Given the description of an element on the screen output the (x, y) to click on. 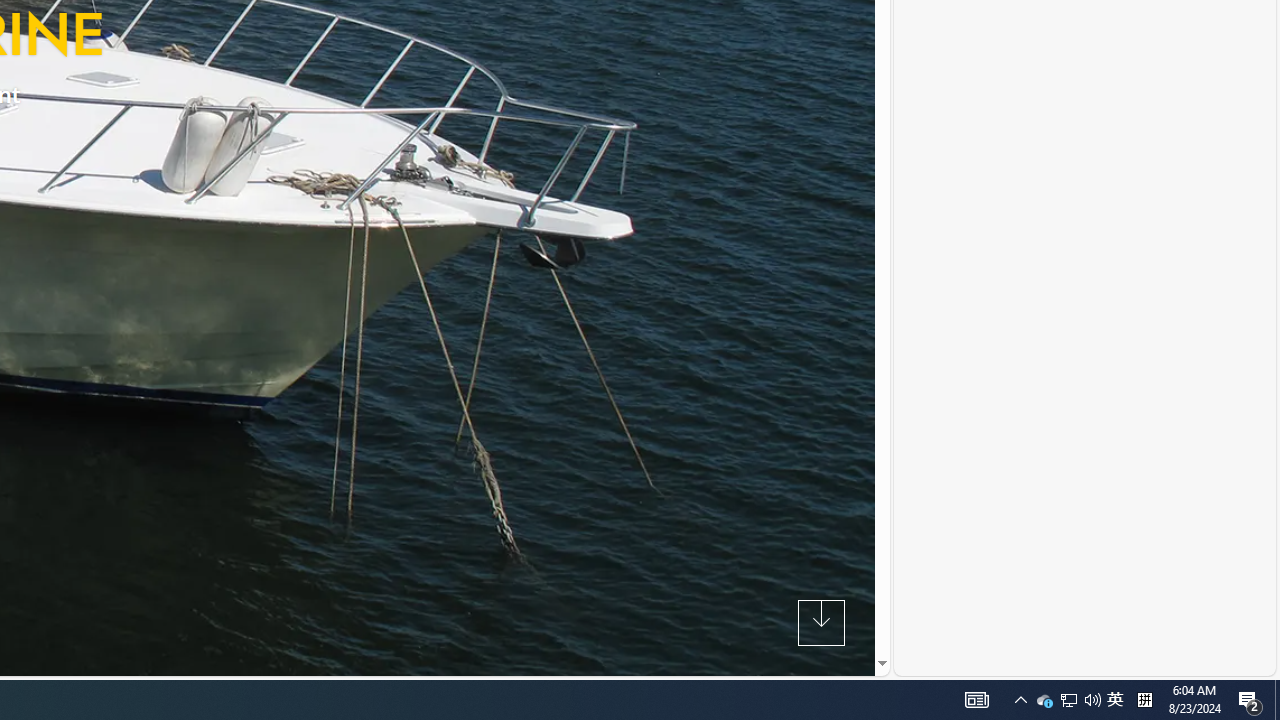
Next Section (820, 622)
